Given the description of an element on the screen output the (x, y) to click on. 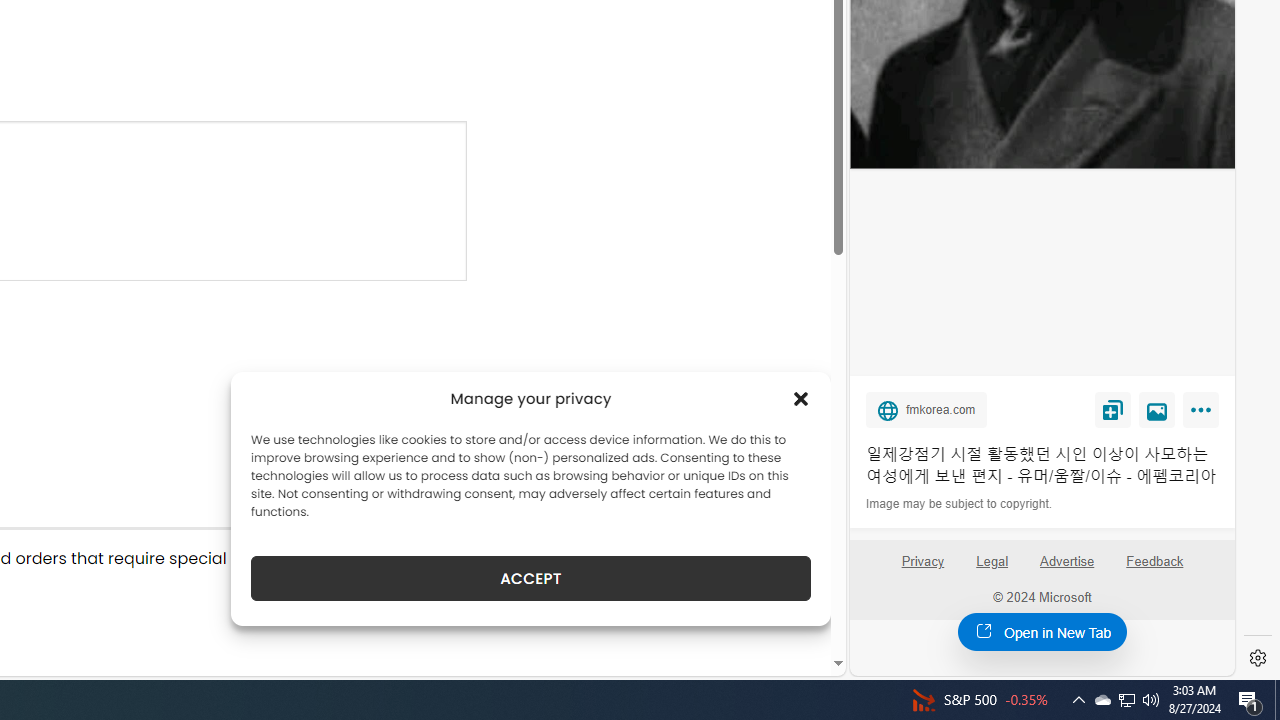
Open in New Tab (1042, 631)
fmkorea.com (927, 409)
Image may be subject to copyright. (959, 503)
Save (1112, 409)
Legal (992, 570)
More (1204, 413)
Legal (991, 560)
View image (1157, 409)
